Given the description of an element on the screen output the (x, y) to click on. 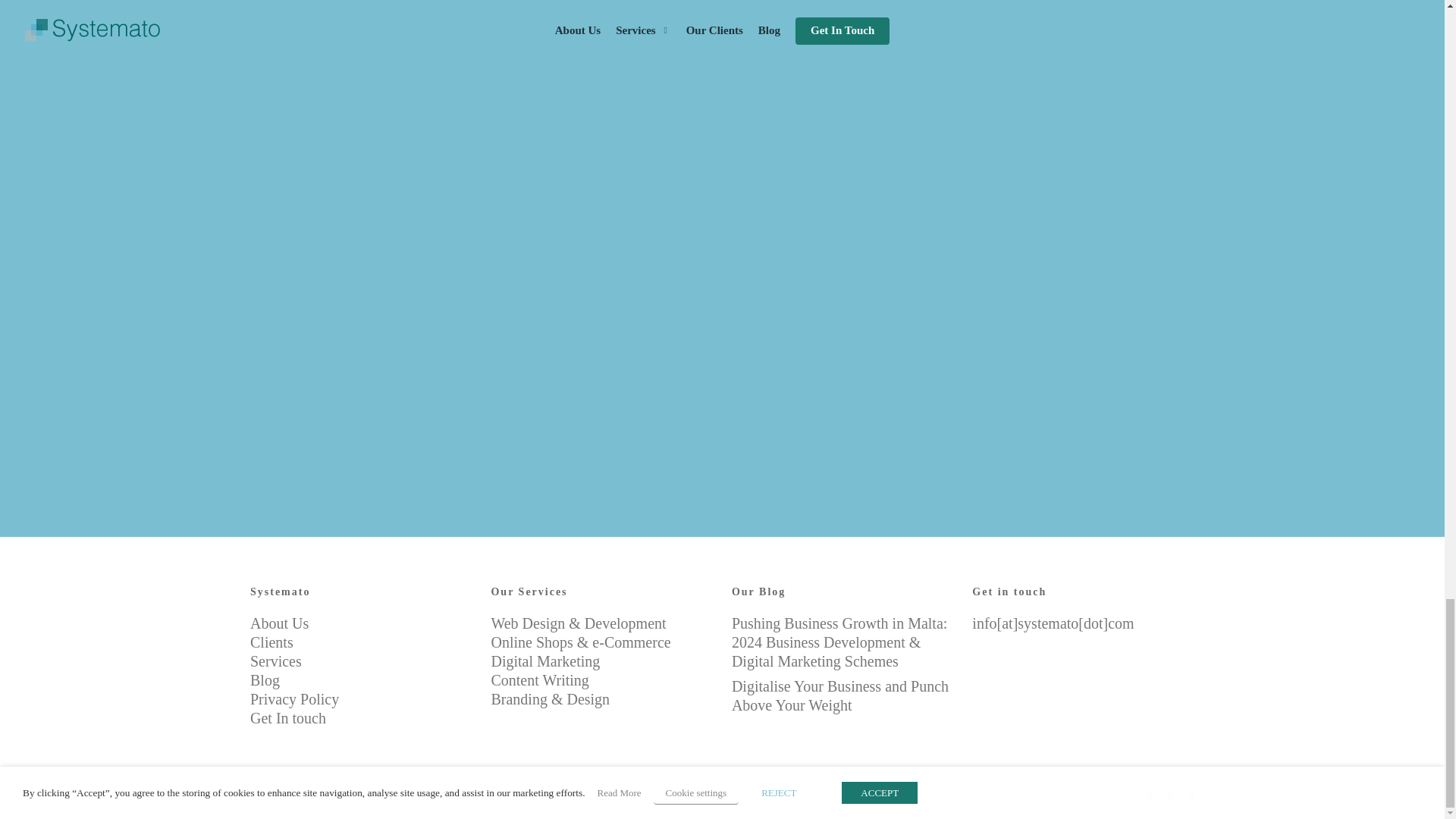
Send (694, 390)
Services (275, 660)
Digital Marketing (544, 660)
Clients (272, 641)
Digitalise Your Business and Punch Above Your Weight (842, 695)
twitter (1129, 793)
Get In touch (288, 718)
Blog (264, 679)
About Us (279, 623)
Content Writing (539, 679)
Privacy Policy (294, 699)
